Given the description of an element on the screen output the (x, y) to click on. 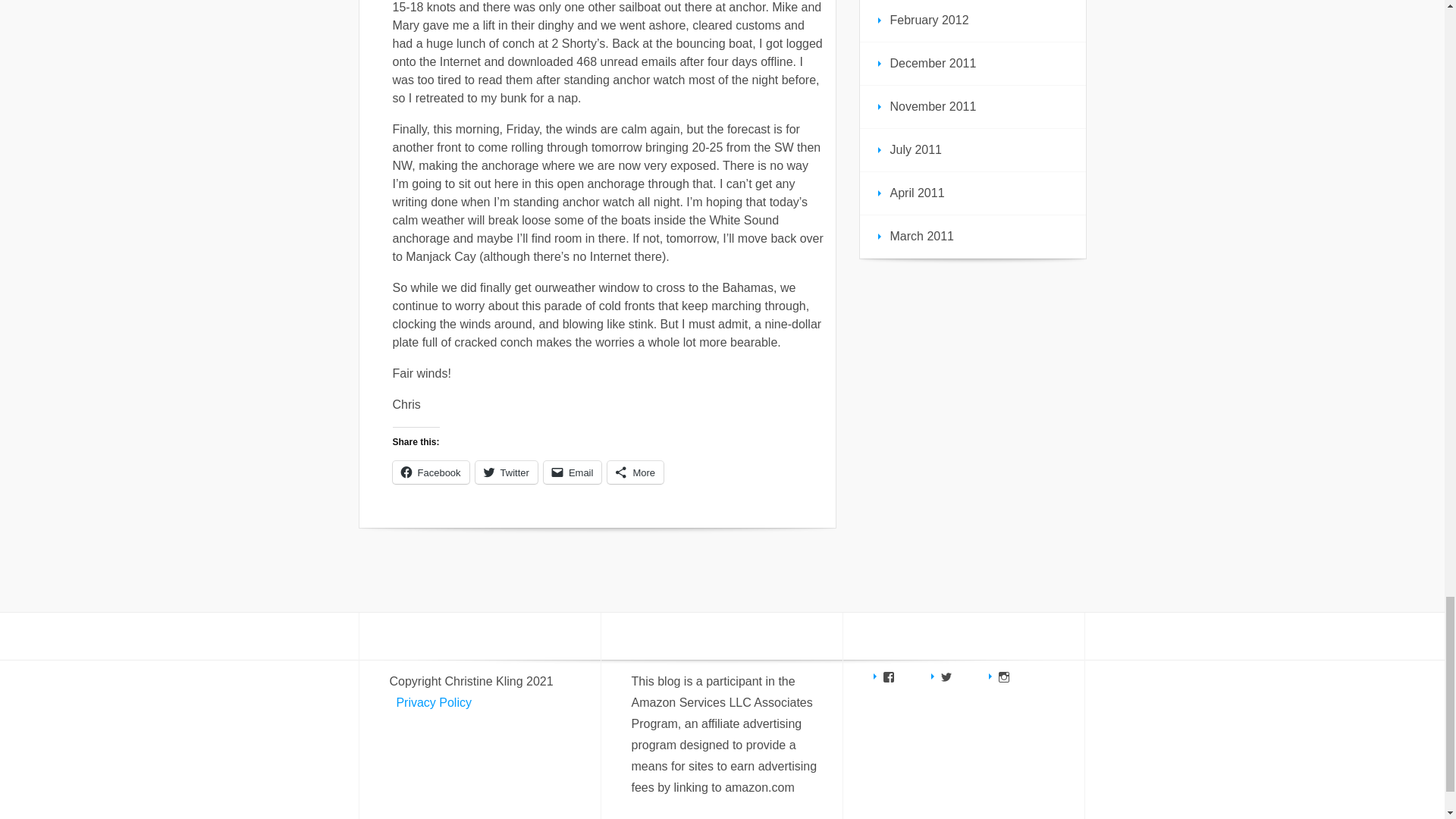
More (635, 472)
Click to email a link to a friend (572, 472)
Click to share on Facebook (430, 472)
Email (572, 472)
Click to share on Twitter (506, 472)
Twitter (506, 472)
Facebook (430, 472)
